Given the description of an element on the screen output the (x, y) to click on. 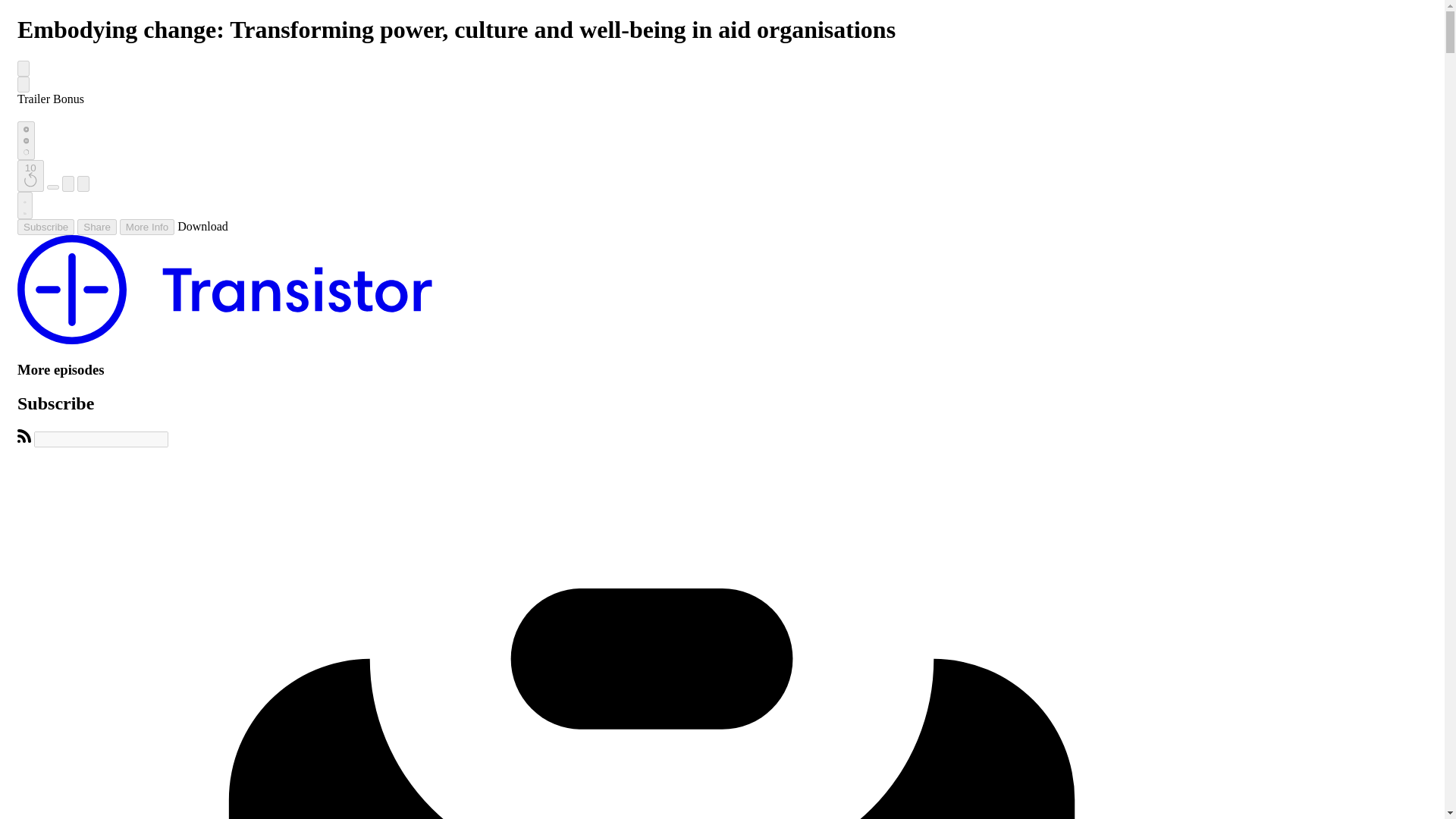
Show sharing options (96, 227)
Show episode details (146, 227)
Show subscribe options (45, 227)
More Info (146, 227)
Download (202, 226)
Share (96, 227)
Subscribe (45, 227)
Download MP3 (202, 226)
Visit Transistor.fm - Podcast Hosting and Analytics (224, 339)
